Given the description of an element on the screen output the (x, y) to click on. 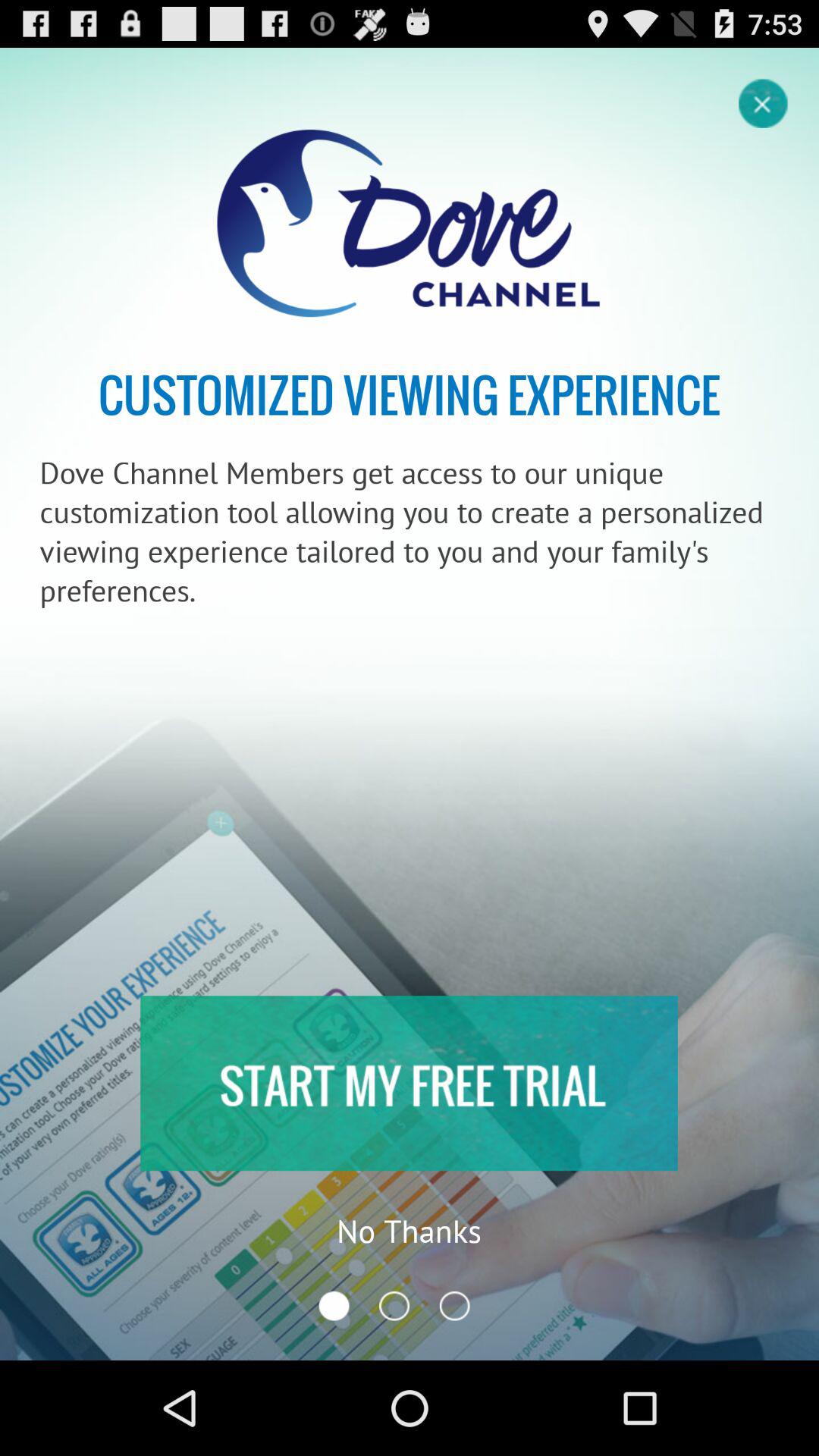
begin a free trial (408, 1083)
